Given the description of an element on the screen output the (x, y) to click on. 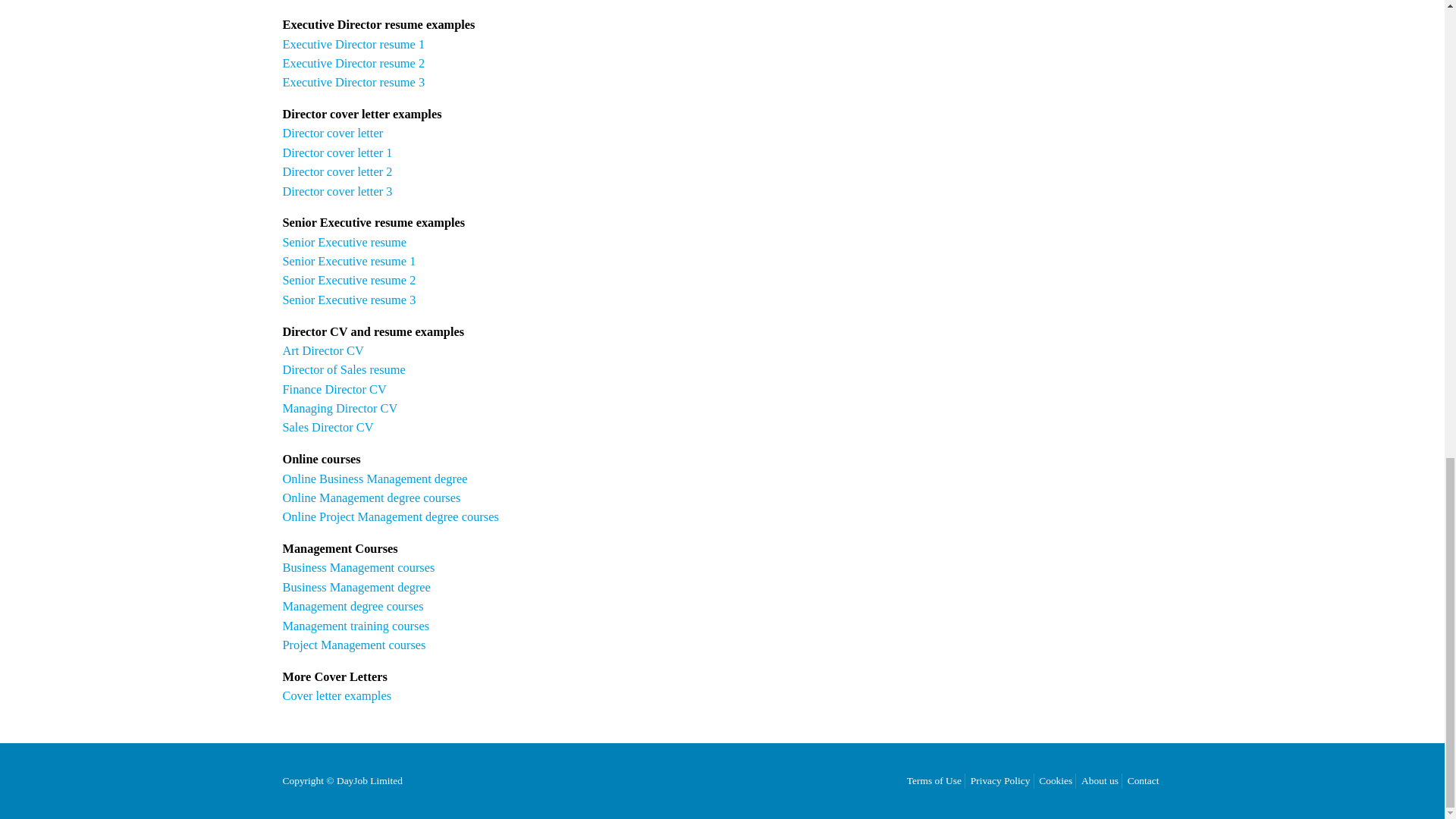
Finance Director CV (333, 389)
Sales Director CV (327, 427)
Director cover letter 2 (336, 171)
Online Management degree courses (371, 497)
Senior Executive resume 2 (348, 279)
Director cover letter 1 (336, 152)
Executive Director resume 2 (353, 63)
Project Management courses (353, 644)
Management training courses (355, 626)
Director cover letter (332, 133)
